Given the description of an element on the screen output the (x, y) to click on. 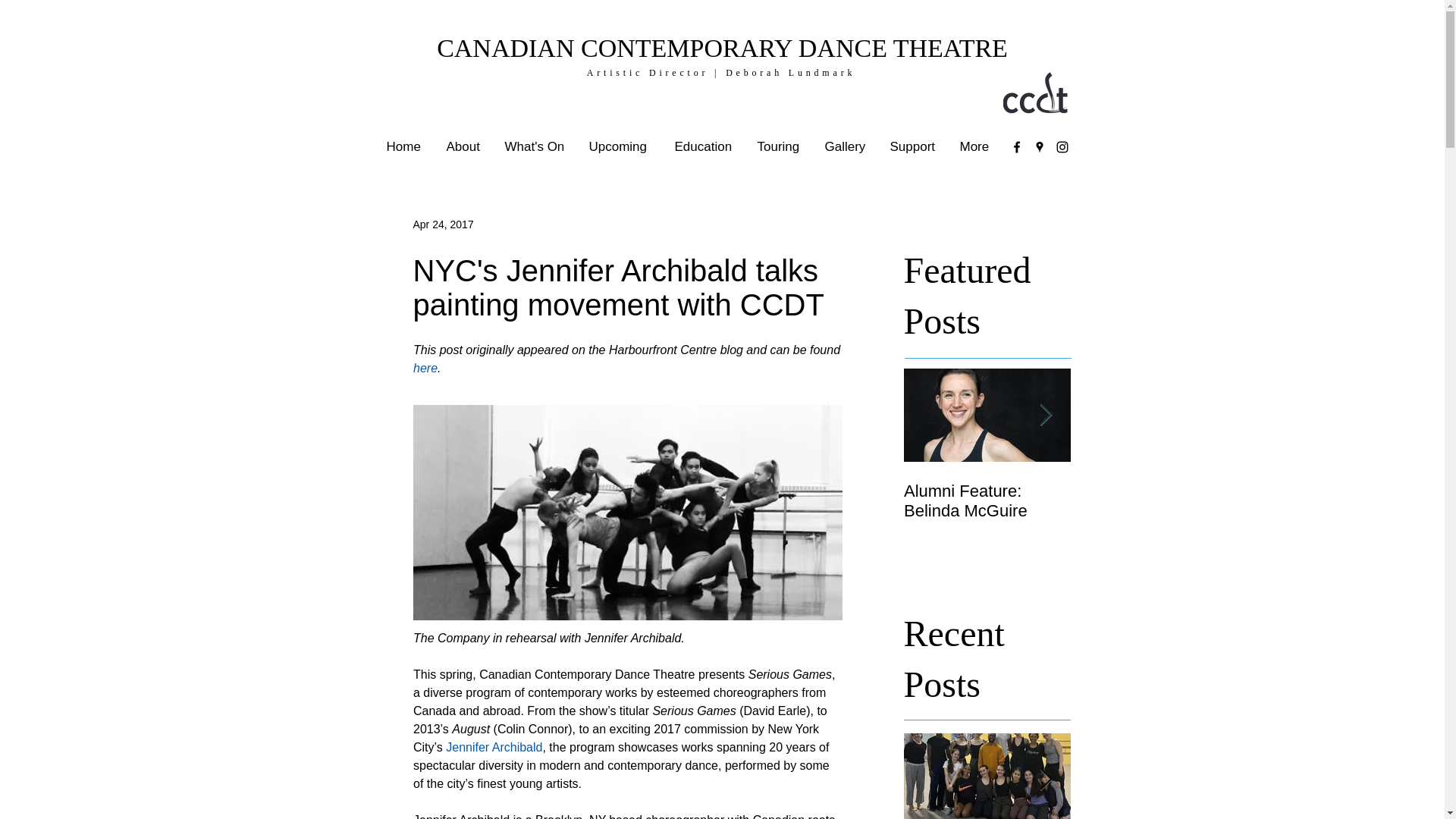
Gallery (844, 146)
Apr 24, 2017 (442, 224)
Touring (779, 146)
Upcoming (620, 146)
CANADIAN CONTEMPORARY DANCE THEATRE (721, 48)
Education (703, 146)
Home (403, 146)
About (464, 146)
